Given the description of an element on the screen output the (x, y) to click on. 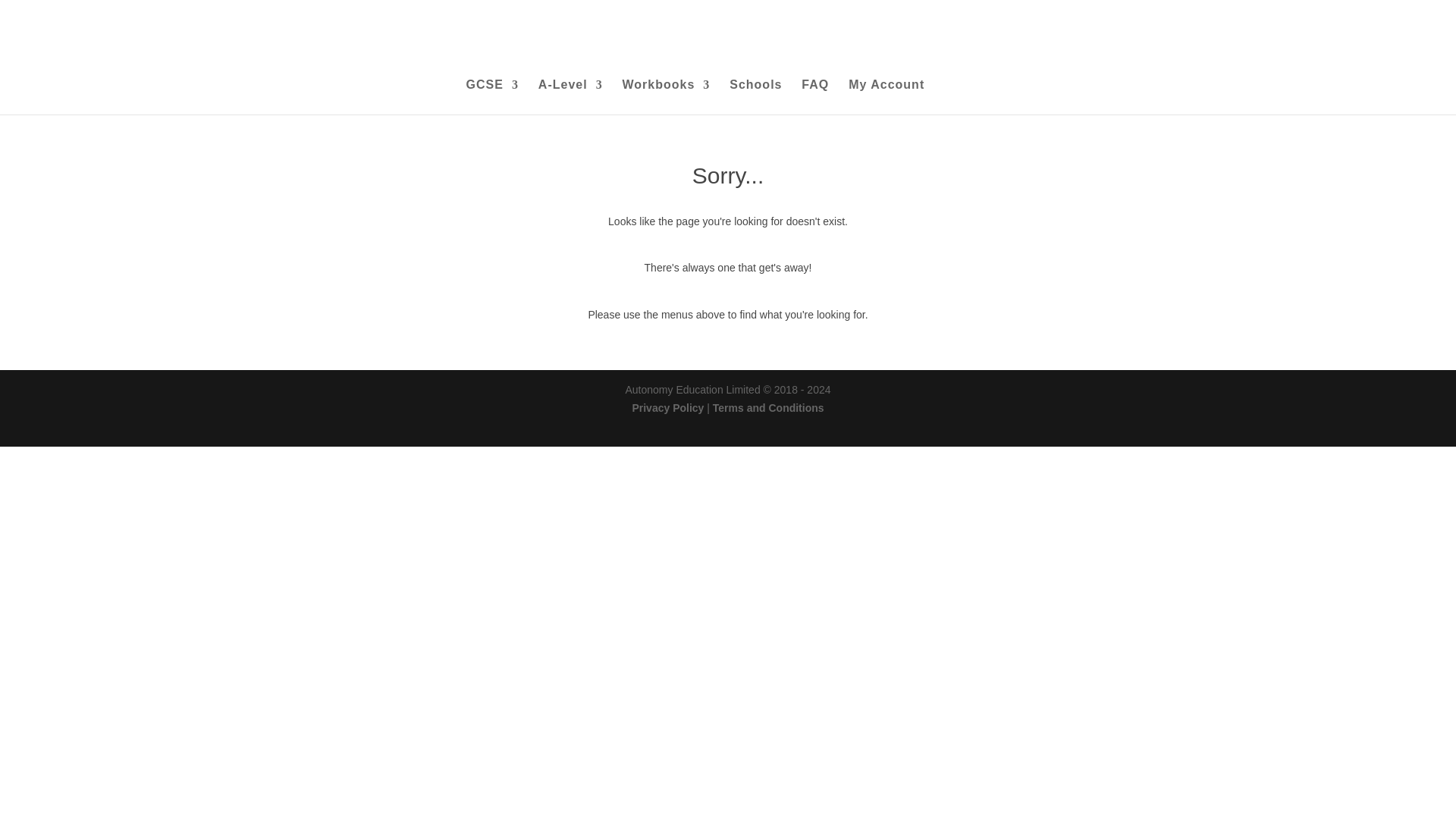
GCSE (491, 96)
